Given the description of an element on the screen output the (x, y) to click on. 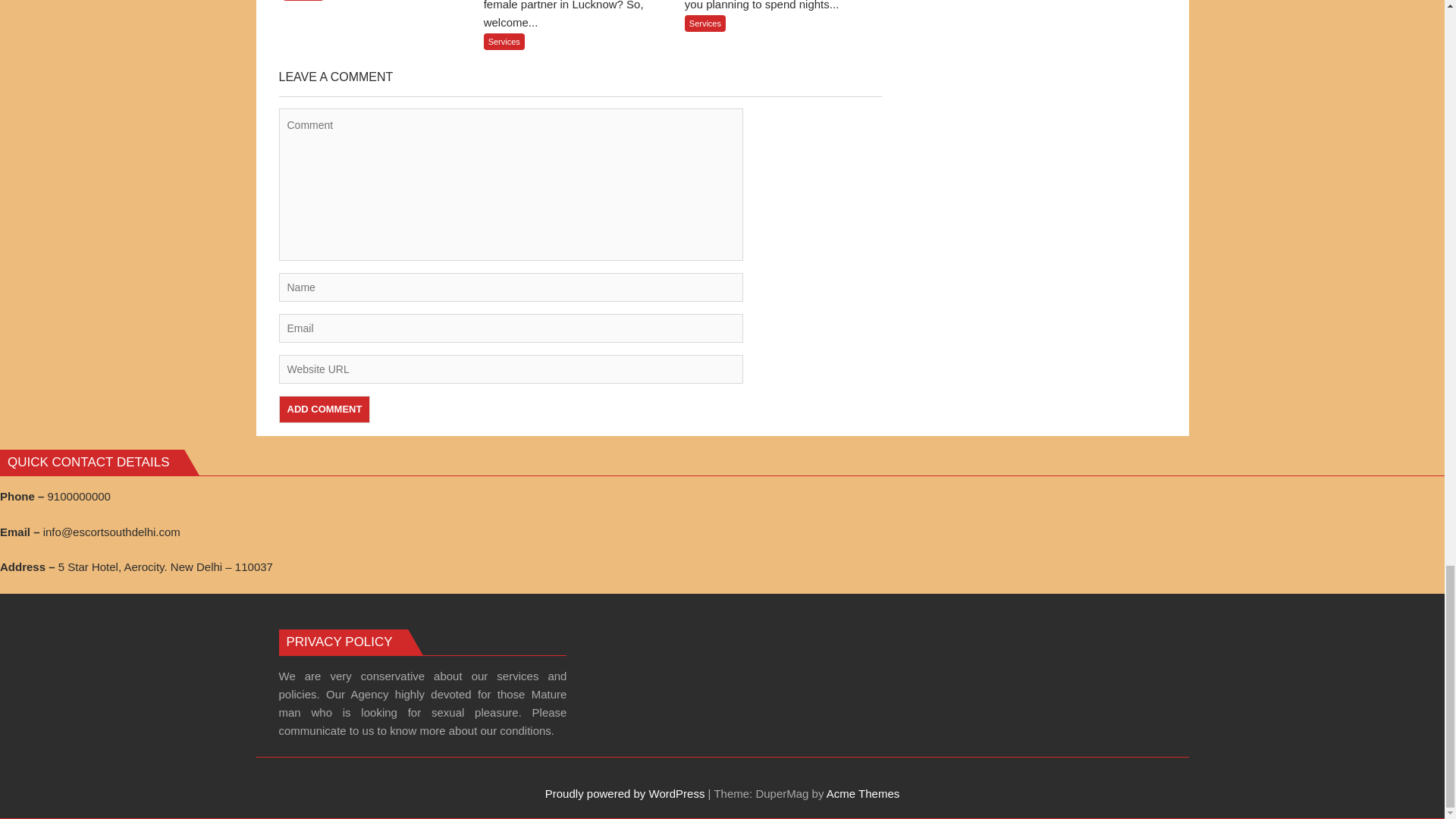
Add Comment (325, 409)
Services (302, 0)
